Given the description of an element on the screen output the (x, y) to click on. 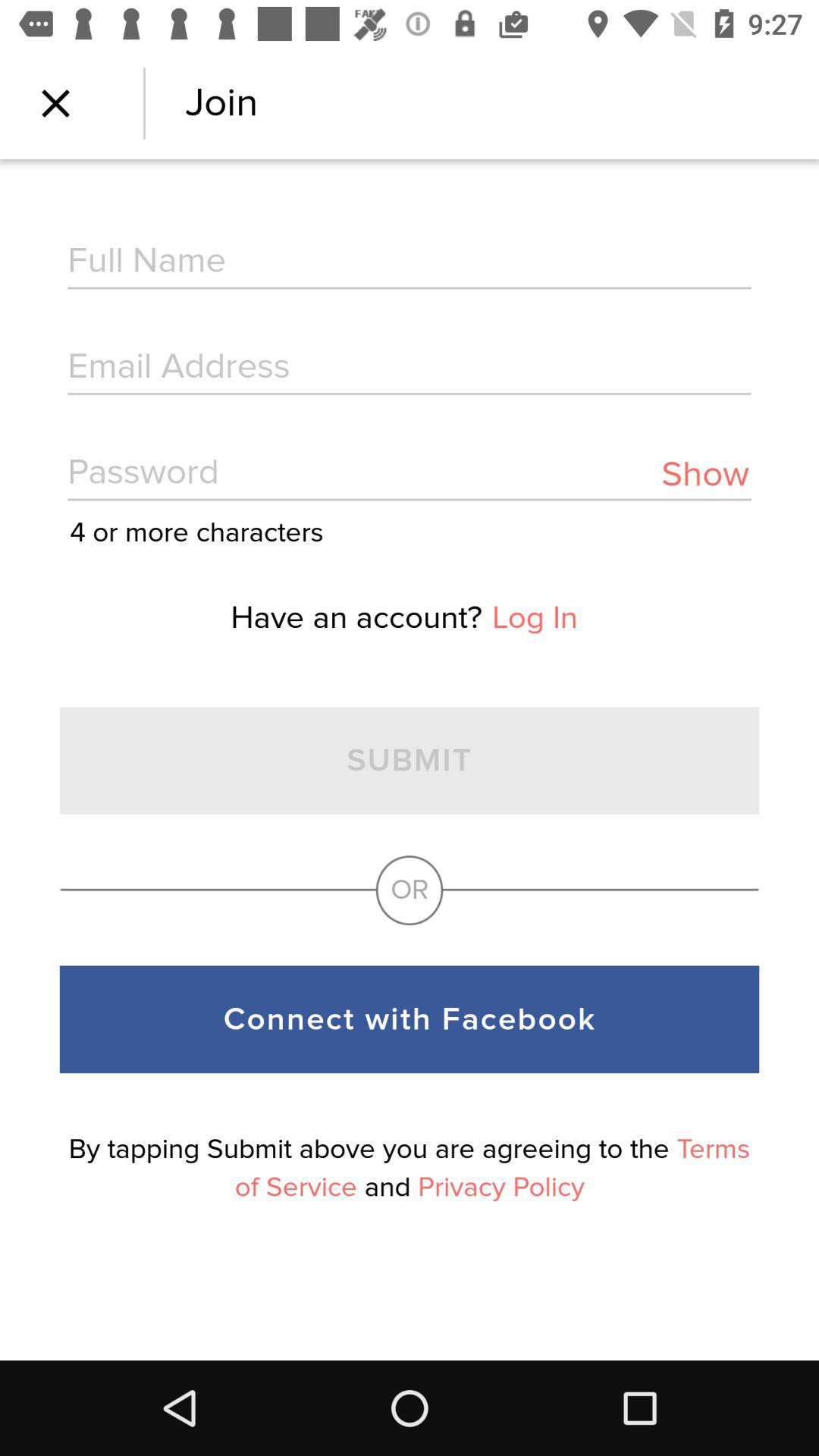
press icon below connect with facebook item (409, 1168)
